Given the description of an element on the screen output the (x, y) to click on. 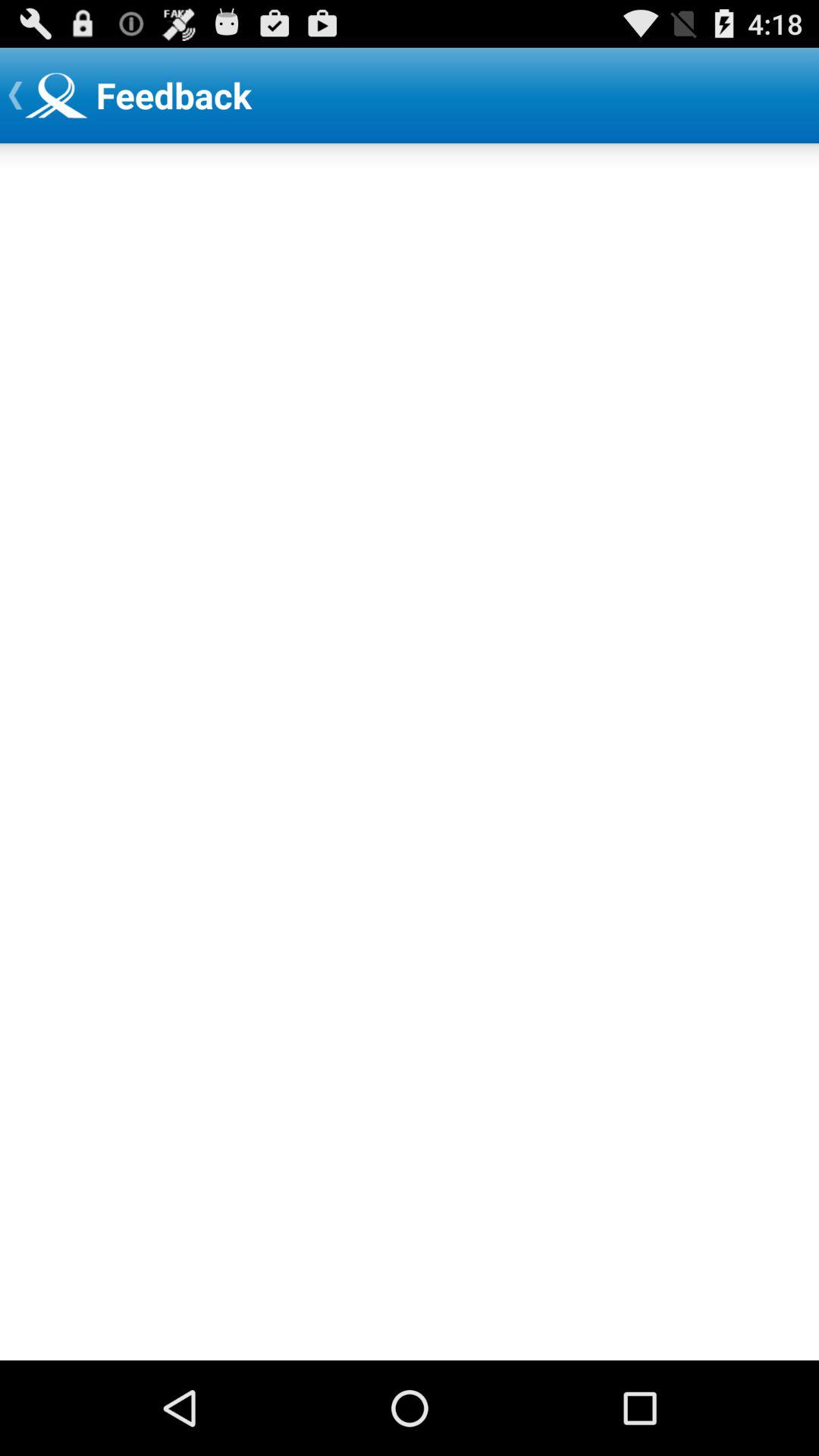
turn on item at the center (409, 751)
